Given the description of an element on the screen output the (x, y) to click on. 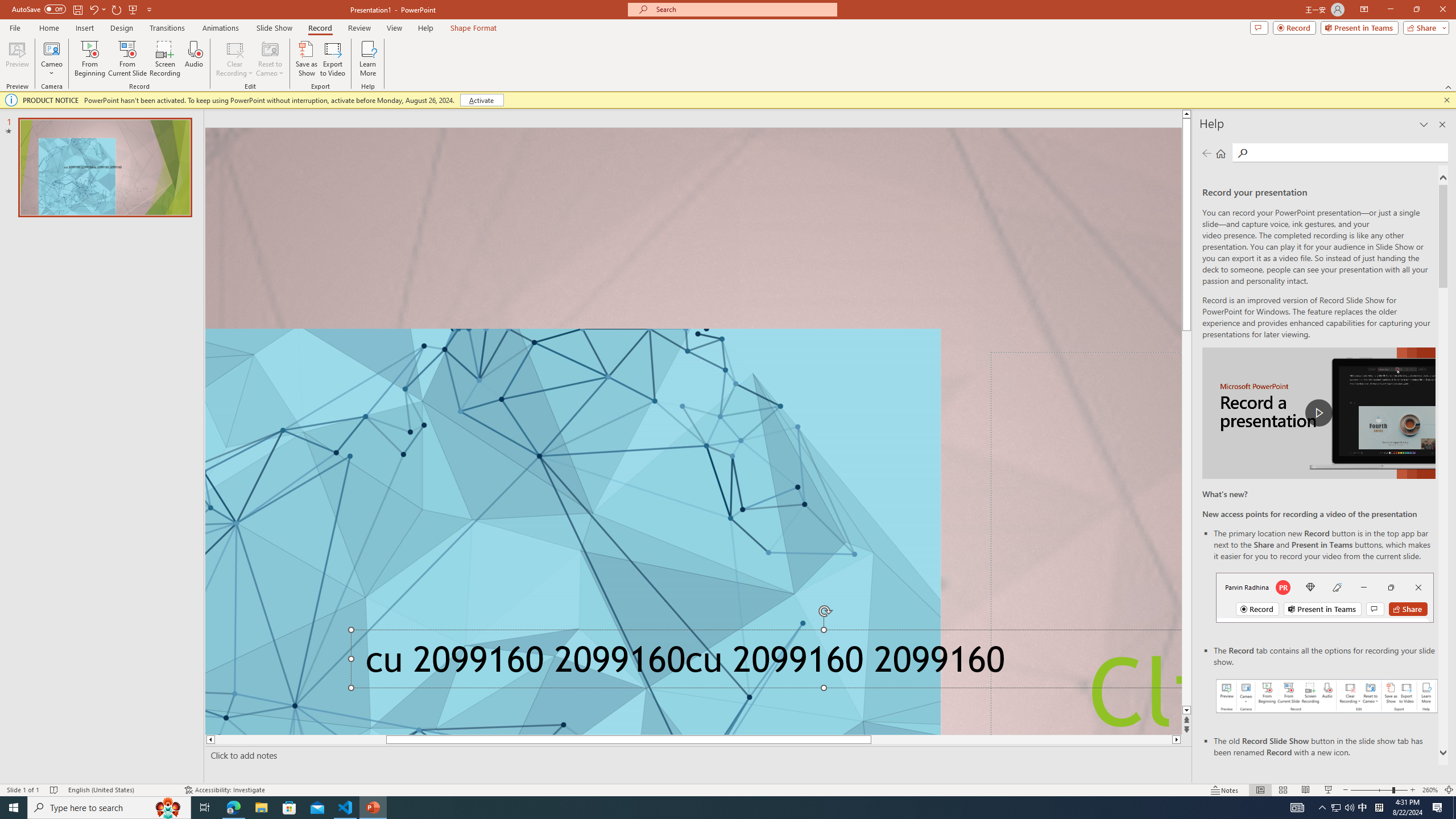
An abstract genetic concept (693, 430)
Record button in top bar (1324, 597)
Reset to Cameo (269, 58)
